Given the description of an element on the screen output the (x, y) to click on. 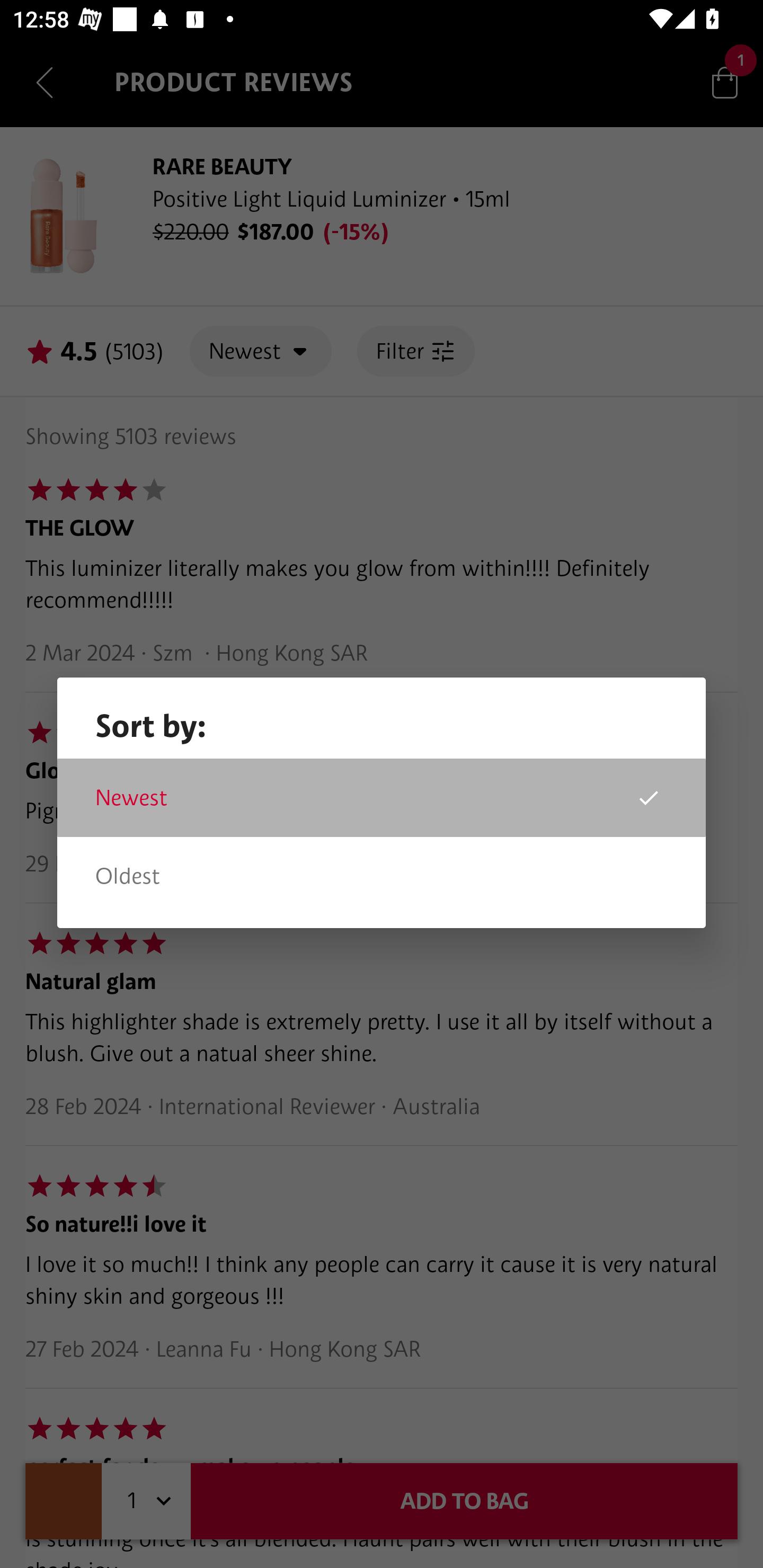
Newest (381, 797)
Oldest (381, 876)
